Given the description of an element on the screen output the (x, y) to click on. 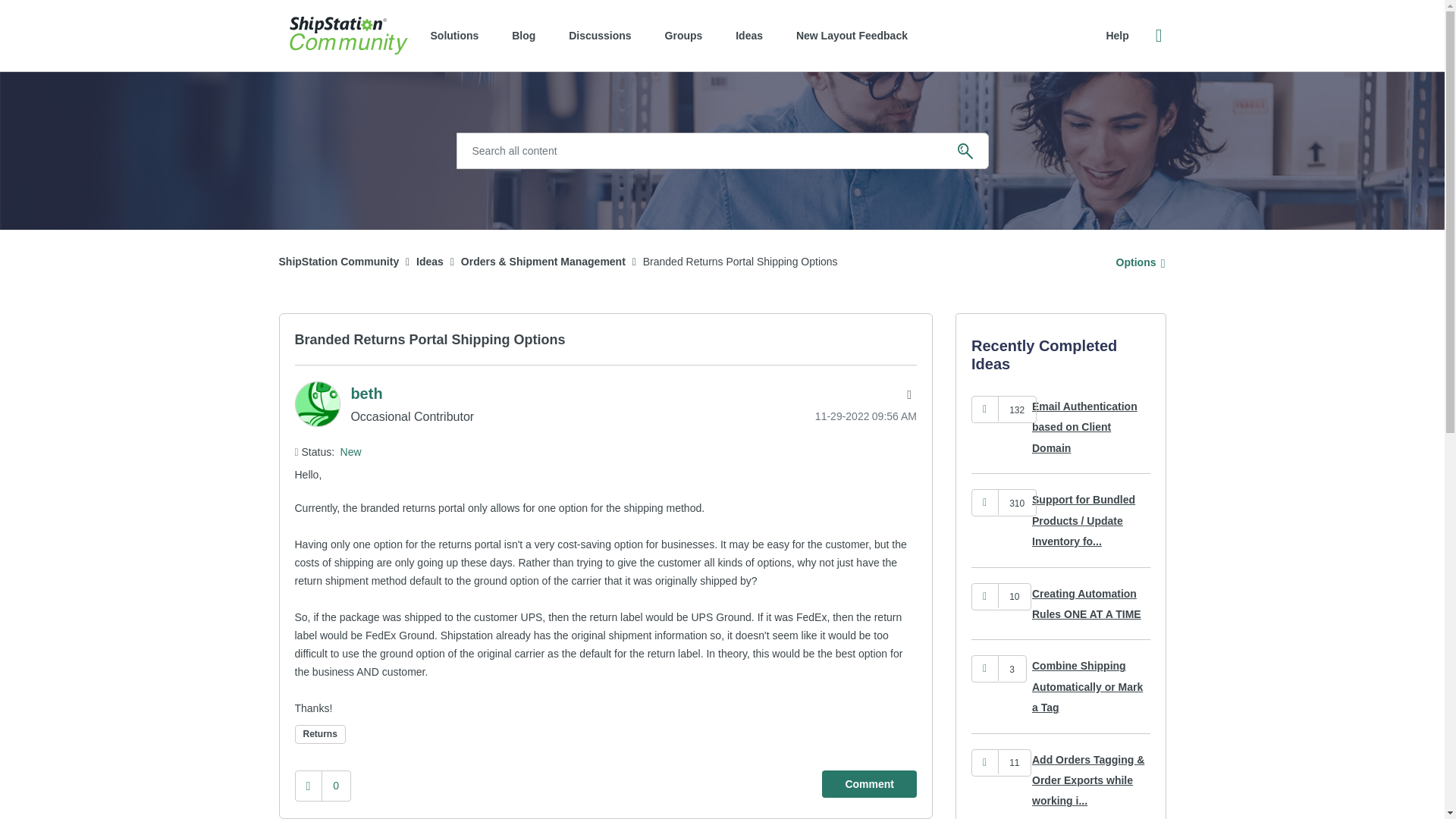
The total number of kudos this post has received. (335, 785)
Click here to give kudos to this post. (307, 785)
Click here to see who gave kudos to this post. (1016, 410)
Search (964, 150)
Ideas (430, 261)
Comment (869, 783)
Solutions (454, 35)
ShipStation Community (348, 35)
Show option menu (1136, 262)
Search (964, 150)
Posted on (829, 416)
beth (316, 403)
New Layout Feedback (851, 35)
Branded Returns Portal Shipping Options (429, 339)
beth (365, 393)
